Given the description of an element on the screen output the (x, y) to click on. 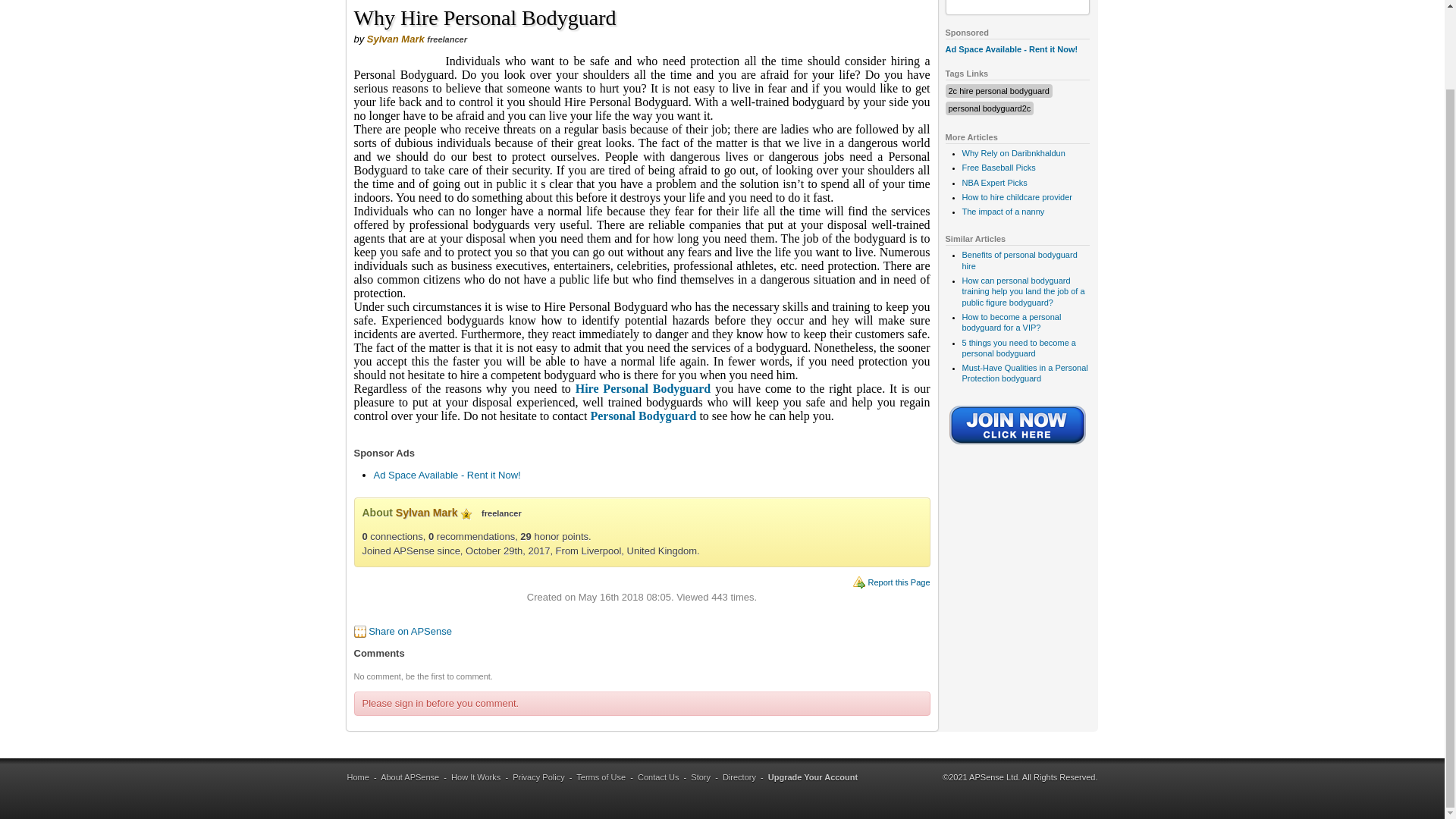
Freshman (465, 513)
2c hire personal bodyguard (997, 90)
Report this Page (898, 582)
Sylvan Mark (395, 39)
personal bodyguard2c (988, 108)
Must-Have Qualities in a Personal Protection bodyguard (1023, 373)
How to become a personal bodyguard for a VIP? (1010, 322)
The impact of a nanny (1001, 211)
Share on APSense (409, 631)
NBA Expert Picks (993, 182)
5 things you need to become a personal bodyguard (1017, 347)
Benefits of personal bodyguard hire (1018, 260)
Why Rely on Daribnkhaldun (1012, 153)
Free Baseball Picks (997, 166)
